Given the description of an element on the screen output the (x, y) to click on. 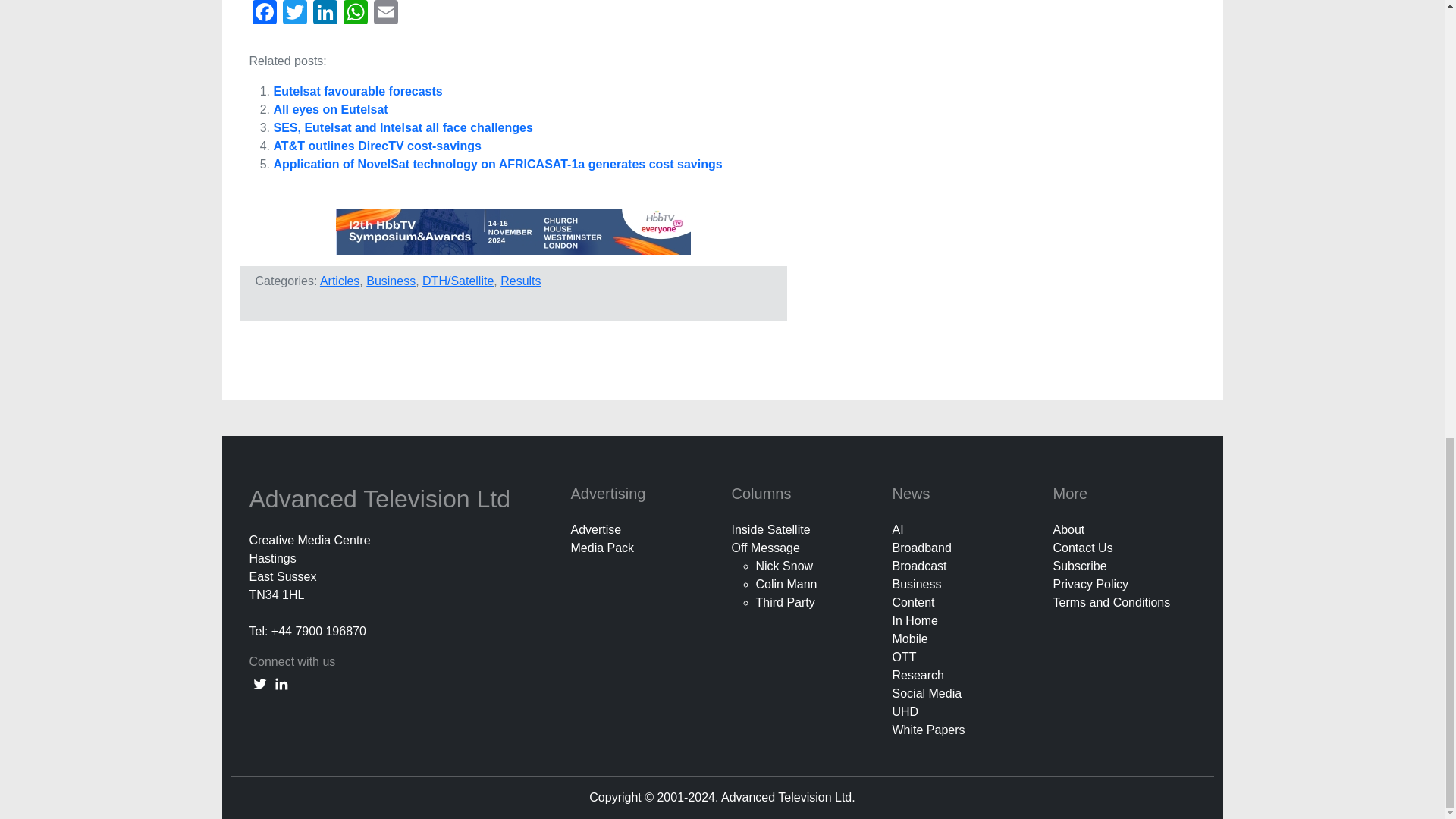
All eyes on Eutelsat (330, 109)
Results (520, 280)
SES, Eutelsat and Intelsat all face challenges (402, 127)
Business (390, 280)
Email (384, 13)
Email (384, 13)
WhatsApp (354, 13)
Articles (339, 280)
Eutelsat favourable forecasts (357, 91)
Eutelsat favourable forecasts (357, 91)
All eyes on Eutelsat (330, 109)
Twitter (293, 13)
SES, Eutelsat and Intelsat all face challenges (402, 127)
WhatsApp (354, 13)
